Given the description of an element on the screen output the (x, y) to click on. 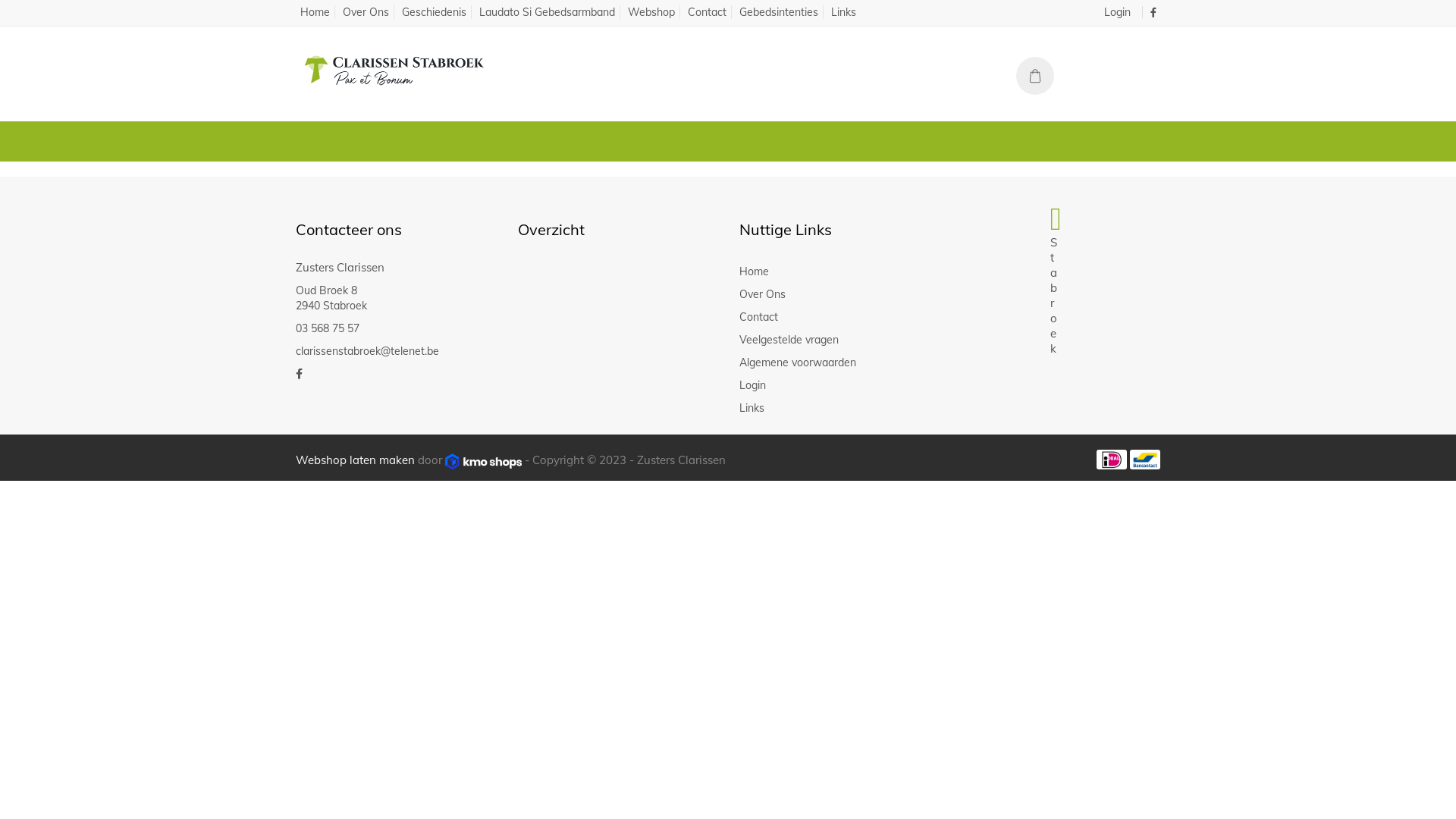
Laudato Si Gebedsarmband Element type: text (547, 11)
Over Ons Element type: text (838, 293)
Gebedsintenties Element type: text (778, 11)
Links Element type: text (843, 11)
Login Element type: text (838, 384)
Home Element type: text (315, 11)
Webshop laten maken Element type: text (356, 459)
Login Element type: text (1117, 11)
Home Element type: text (838, 271)
Veelgestelde vragen Element type: text (838, 339)
clarissenstabroek@telenet.be Element type: text (367, 350)
Oud Broek 8
2940 Stabroek Element type: text (331, 297)
Links Element type: text (838, 407)
Over Ons Element type: text (366, 11)
Algemene voorwaarden Element type: text (838, 362)
Contact Element type: text (707, 11)
Geschiedenis Element type: text (434, 11)
03 568 75 57 Element type: text (327, 328)
KMO-Shops-Logo-Wit-XS Element type: hover (483, 461)
Webshop Element type: text (651, 11)
Contact Element type: text (838, 316)
